Given the description of an element on the screen output the (x, y) to click on. 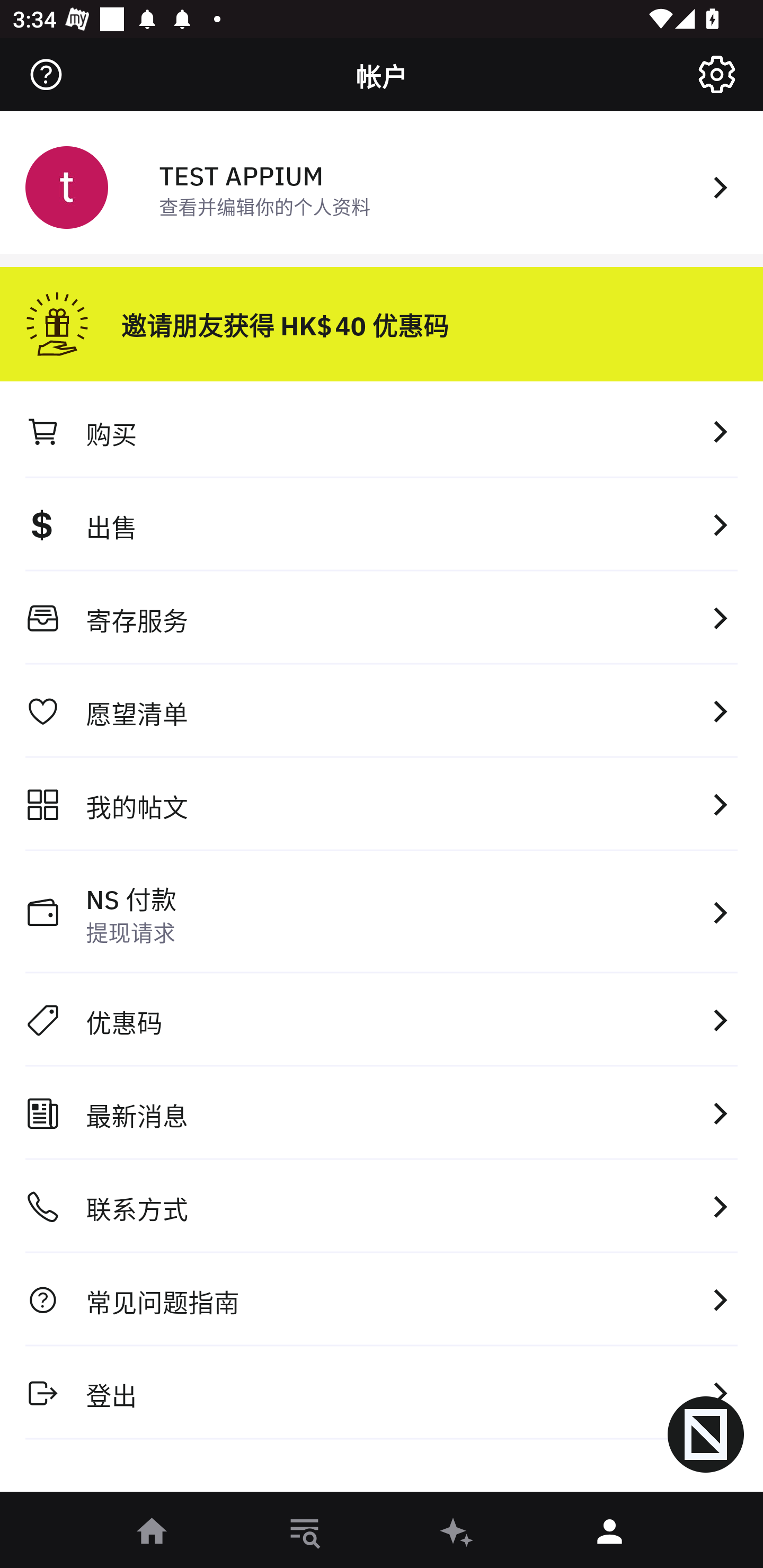
 (46, 74)
 (716, 74)
TEST APPIUM 查看并编辑你的个人资料  (381, 185)
邀请朋友获得 HK$ 40 优惠码 (381, 317)
 购买  (381, 431)
 出售  (381, 524)
 寄存服务  (381, 617)
 愿望清单  (381, 710)
 我的帖文  (381, 804)
 0 NS 付款 提现请求  (381, 912)
 优惠码  (381, 1019)
 最新消息  (381, 1113)
 联系方式  (381, 1206)
 常见问题指南  (381, 1298)
 登出  (381, 1392)
󰋜 (152, 1532)
󱎸 (305, 1532)
󰫢 (457, 1532)
󰀄 (610, 1532)
